Given the description of an element on the screen output the (x, y) to click on. 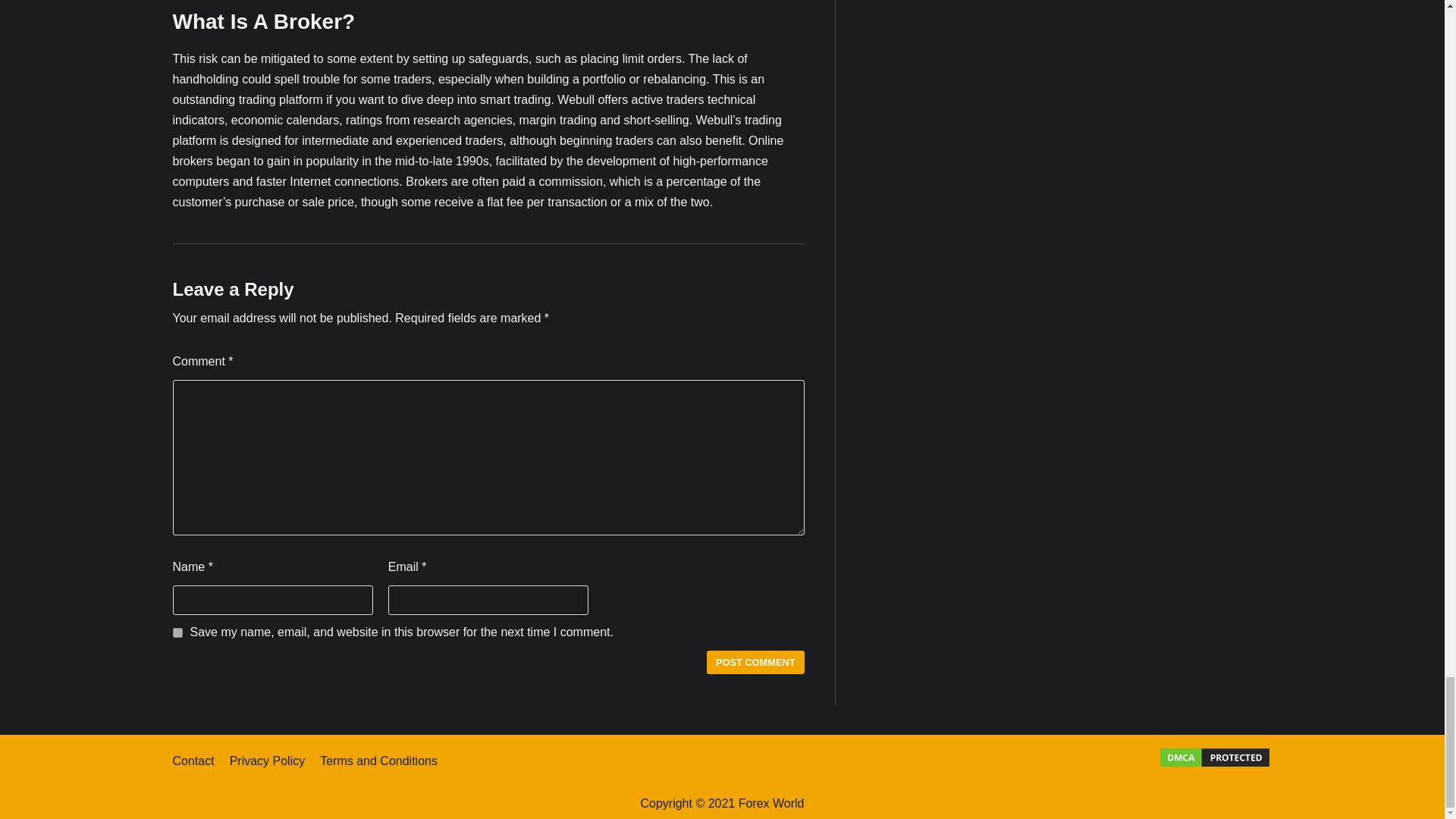
DMCA.com Protection Status (1214, 764)
Post Comment (755, 662)
Post Comment (755, 662)
yes (178, 633)
